Given the description of an element on the screen output the (x, y) to click on. 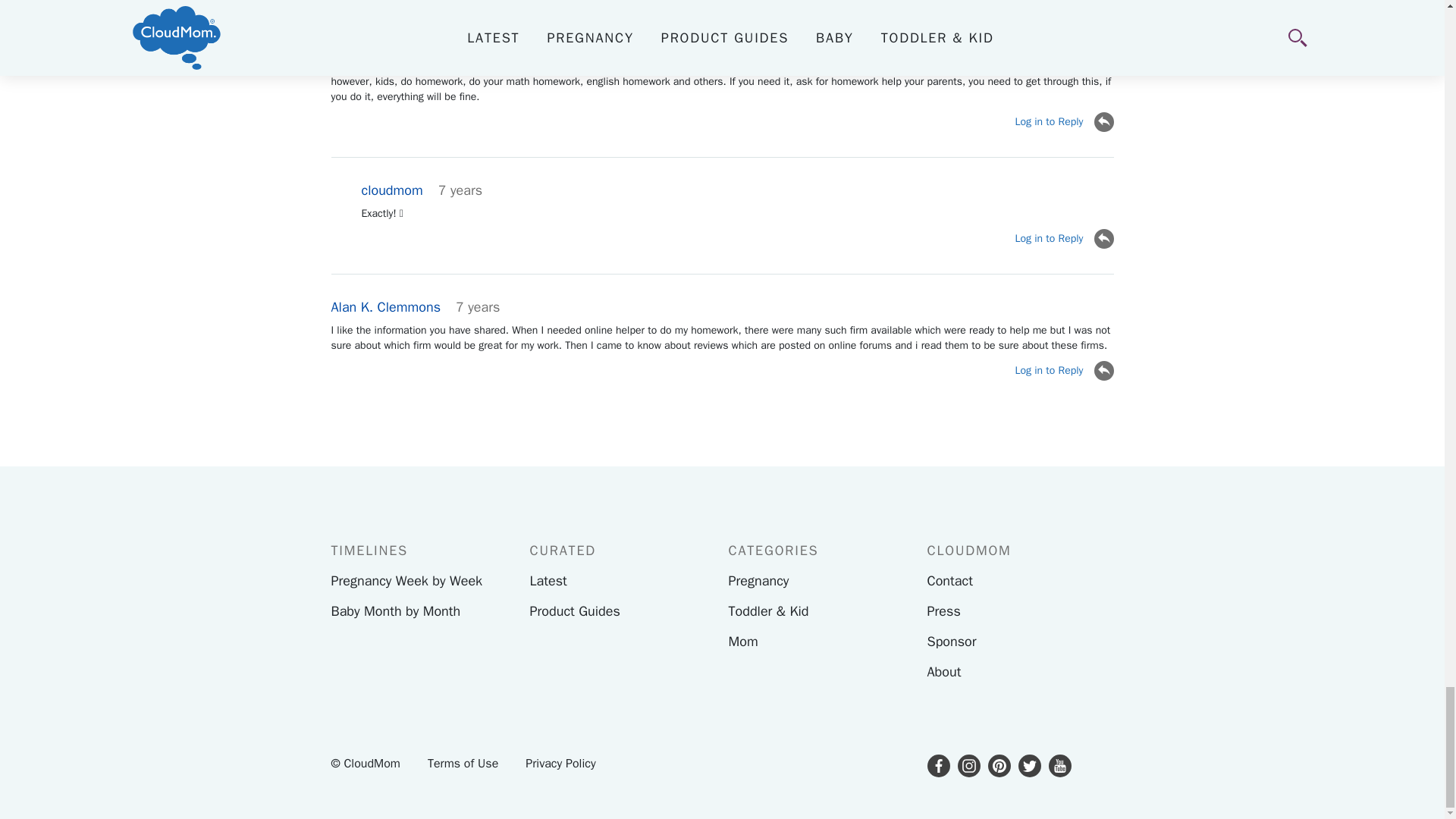
facebook (937, 765)
instagram (967, 765)
pinterest (998, 765)
youtube (1059, 765)
twitter (1029, 765)
